Given the description of an element on the screen output the (x, y) to click on. 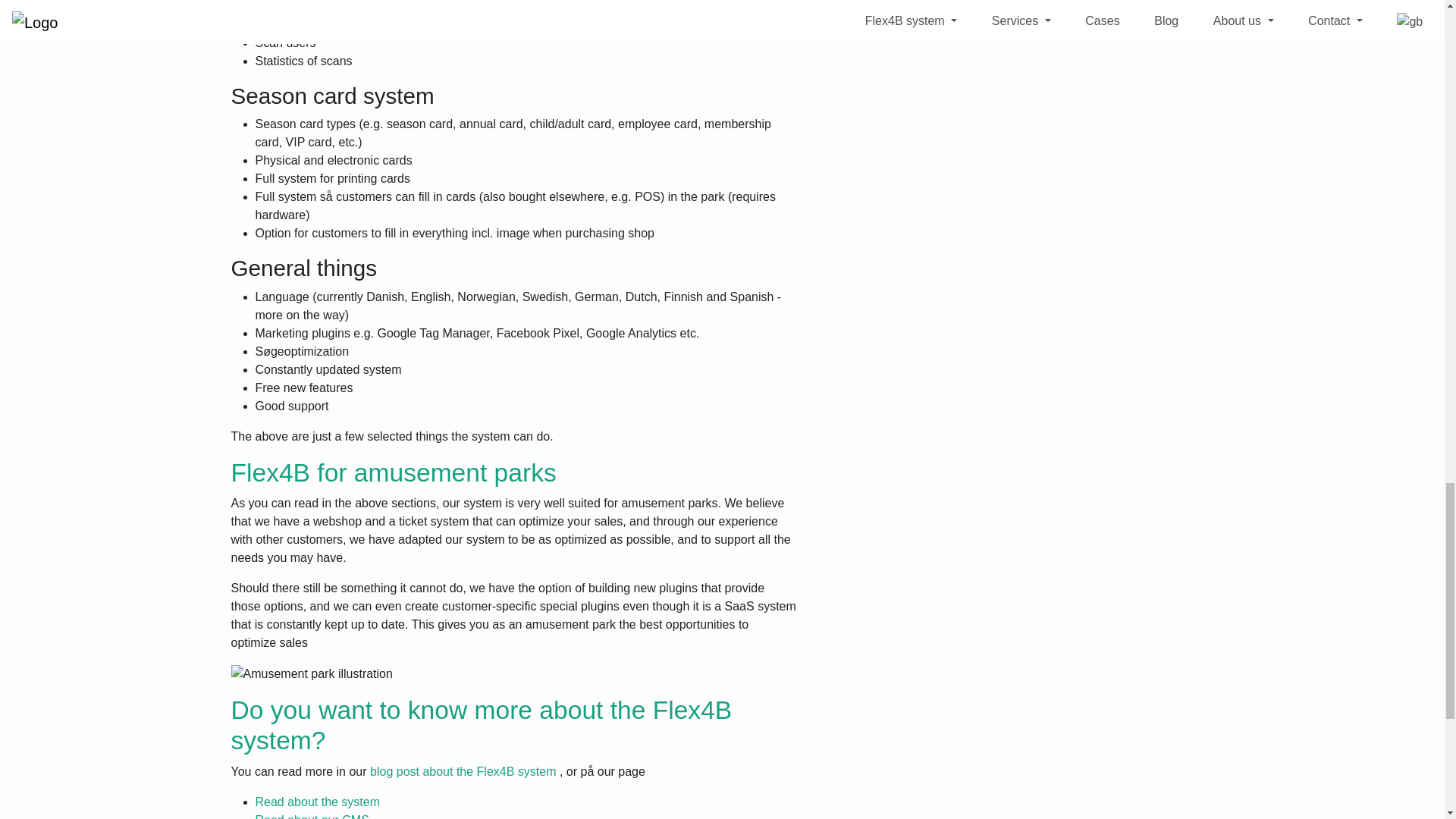
Read about the system (317, 801)
Read about our CMS (311, 816)
blog post about the Flex4B system (462, 771)
